Given the description of an element on the screen output the (x, y) to click on. 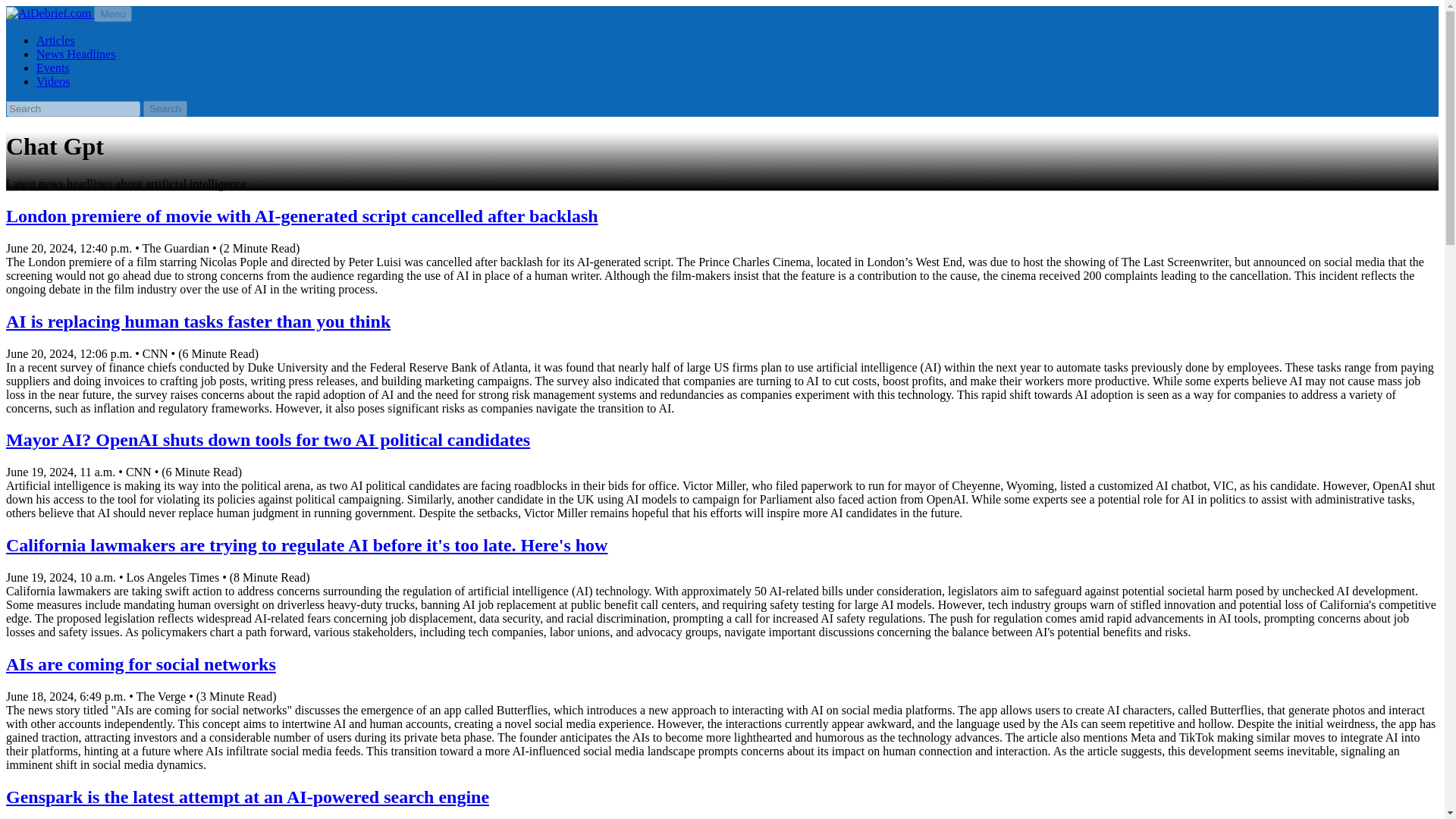
Menu (112, 13)
Ai Debrief logo (49, 12)
News Headlines (75, 53)
Search (164, 108)
Events (52, 67)
Articles (55, 40)
AI is replacing human tasks faster than you think (197, 321)
